Given the description of an element on the screen output the (x, y) to click on. 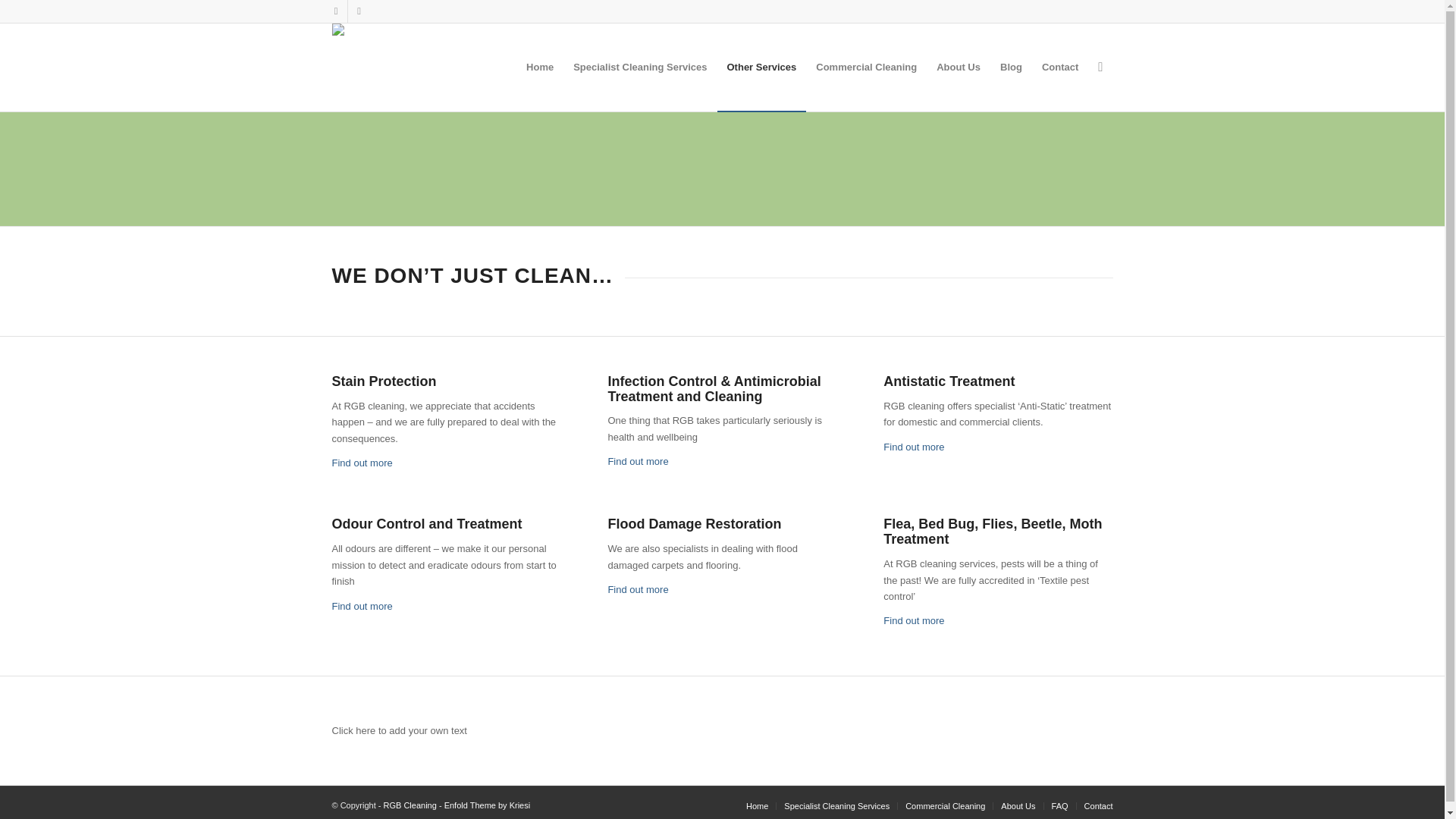
Commercial Cleaning (866, 67)
Flea, Bed Bug, Flies, Beetle, Moth Treatment (913, 620)
Mail (358, 11)
Odour Control and treatment (362, 605)
Flood Damage (637, 589)
Find out more (913, 446)
Stain protection for Carpets and Upholstery (362, 462)
Find out more (362, 462)
Specialist Cleaning Services (639, 67)
Facebook (335, 11)
Find out more (637, 460)
Antistatic Treatment (913, 446)
Other Services (761, 67)
Find out more (362, 605)
